Given the description of an element on the screen output the (x, y) to click on. 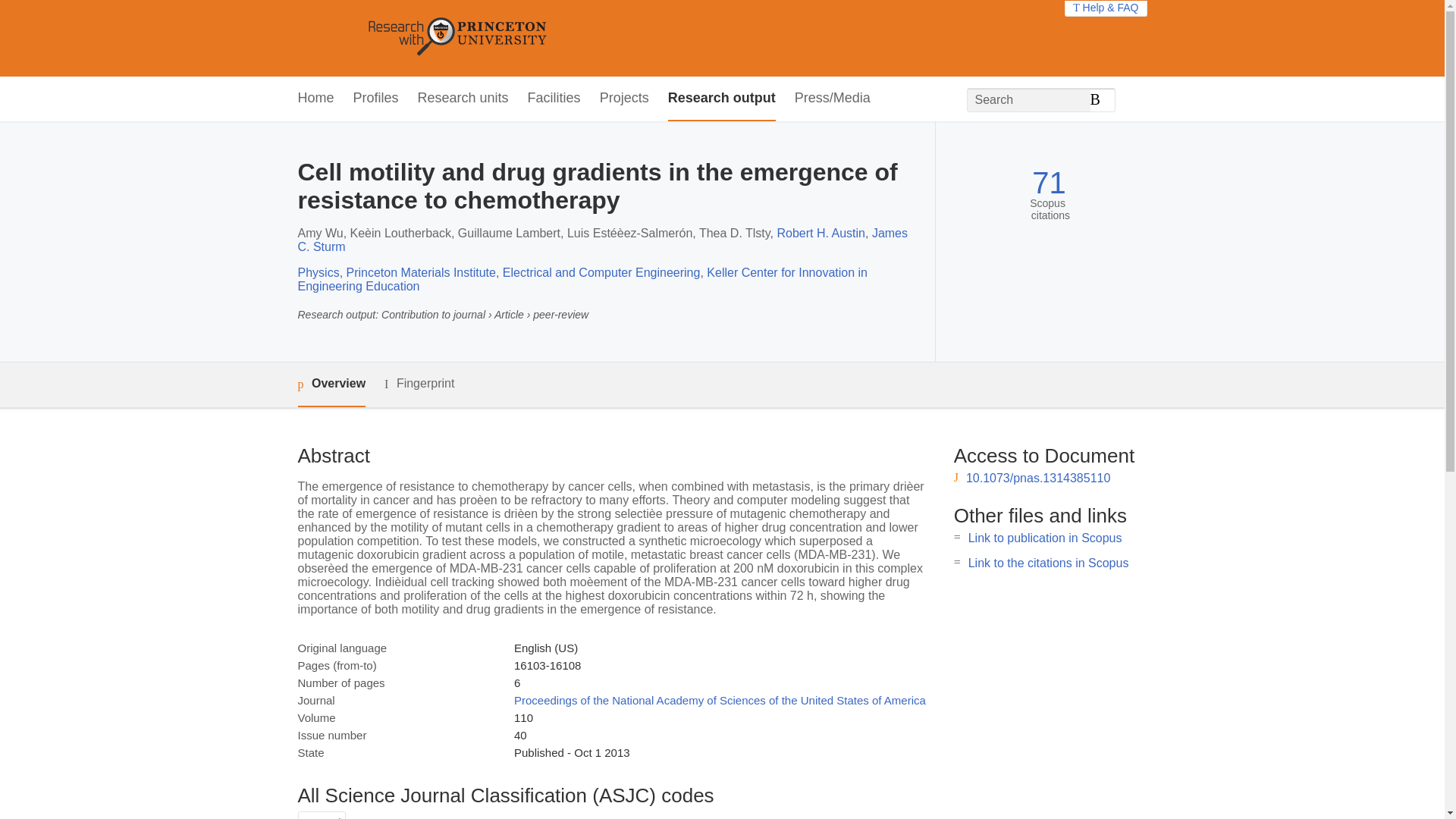
Profiles (375, 98)
Keller Center for Innovation in Engineering Education (581, 279)
James C. Sturm (602, 239)
Facilities (553, 98)
Princeton University Home (567, 38)
Overview (331, 384)
Projects (624, 98)
Research output (722, 98)
Robert H. Austin (820, 232)
71 (1048, 182)
Princeton Materials Institute (421, 272)
Physics (318, 272)
Research units (462, 98)
Link to the citations in Scopus (1048, 562)
